Given the description of an element on the screen output the (x, y) to click on. 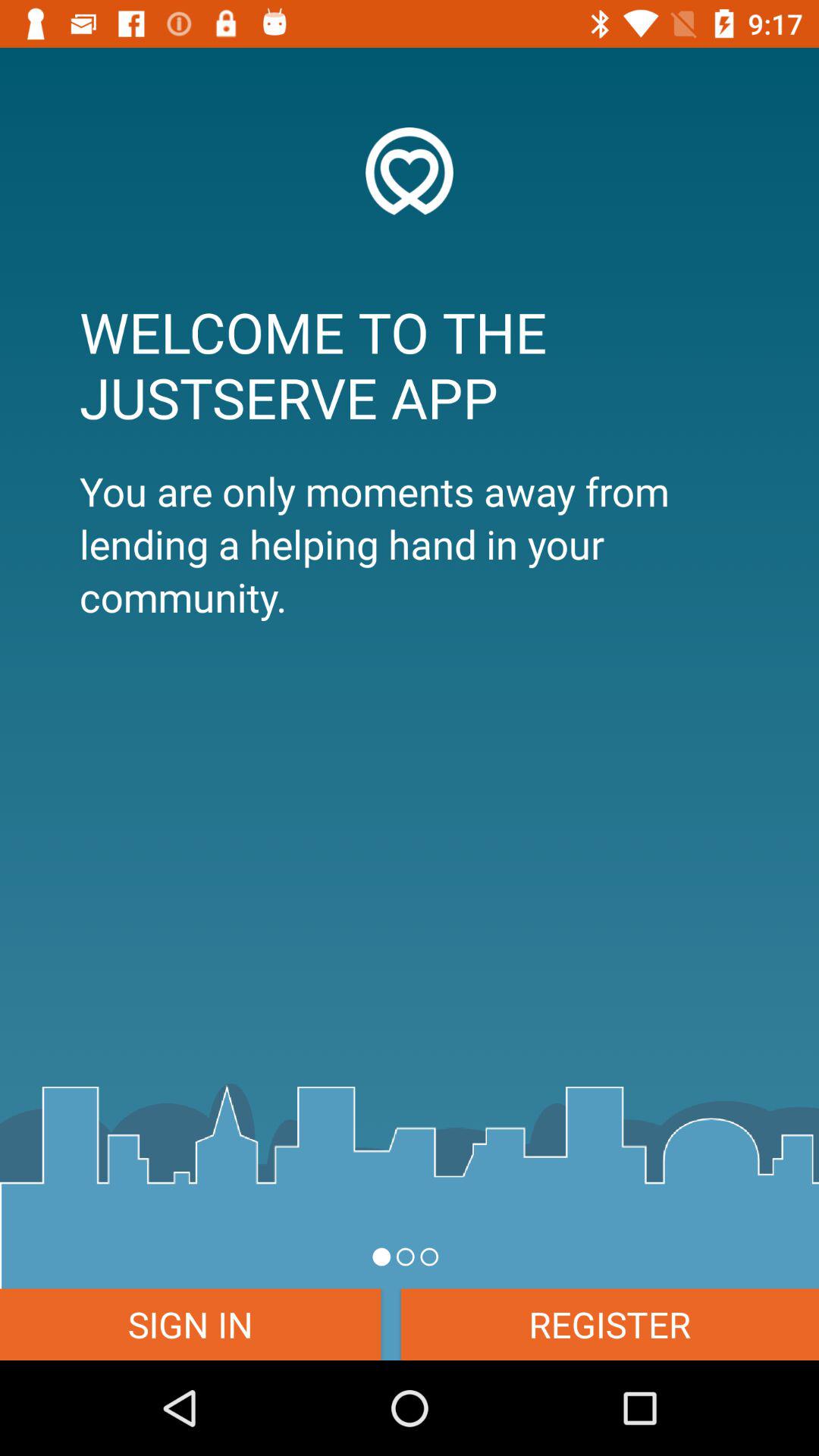
launch sign in (190, 1324)
